Given the description of an element on the screen output the (x, y) to click on. 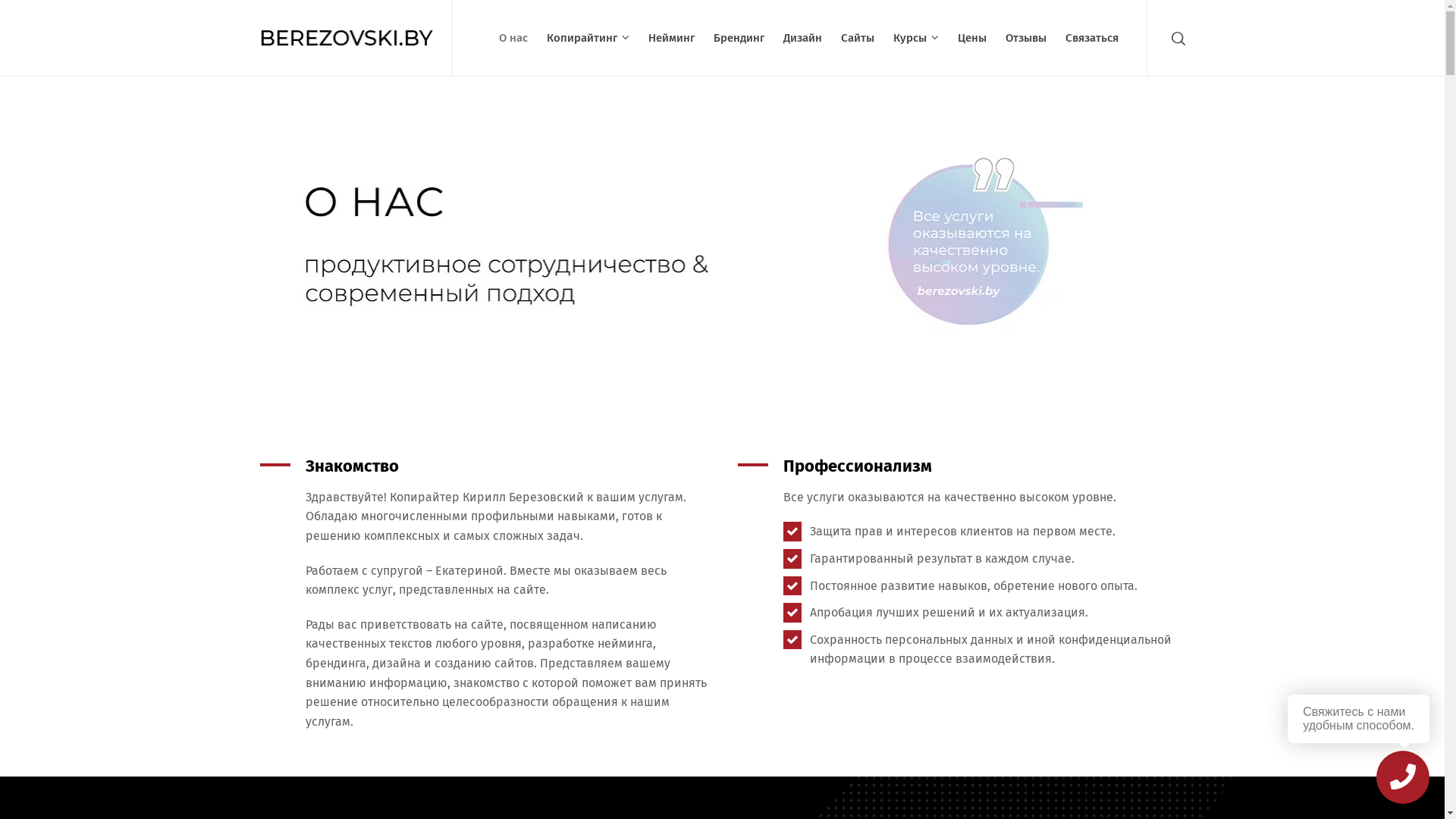
banner-o-nas Element type: hover (721, 237)
Berezovski.by Element type: hover (346, 37)
